Given the description of an element on the screen output the (x, y) to click on. 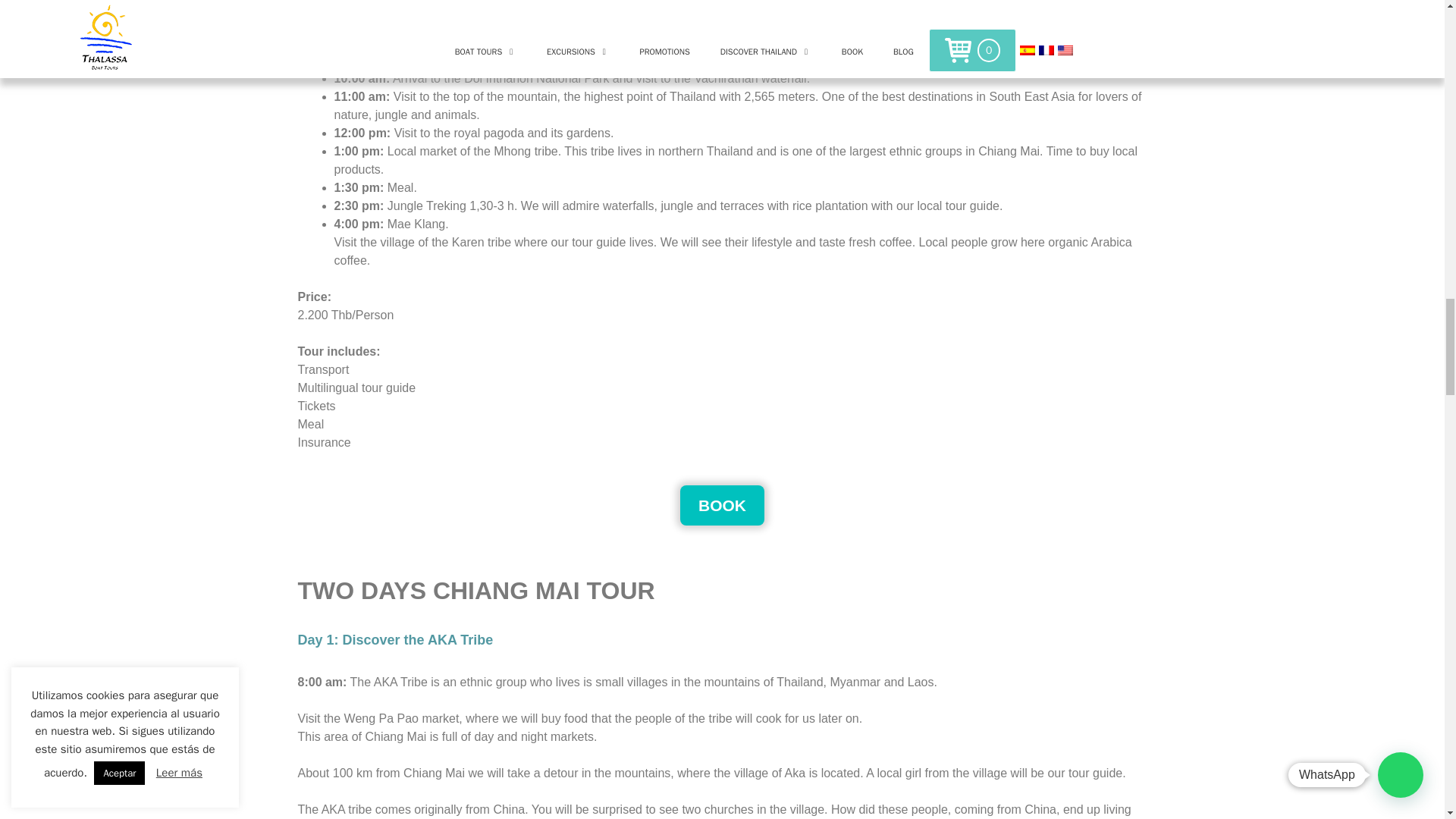
BOOK (721, 505)
